Given the description of an element on the screen output the (x, y) to click on. 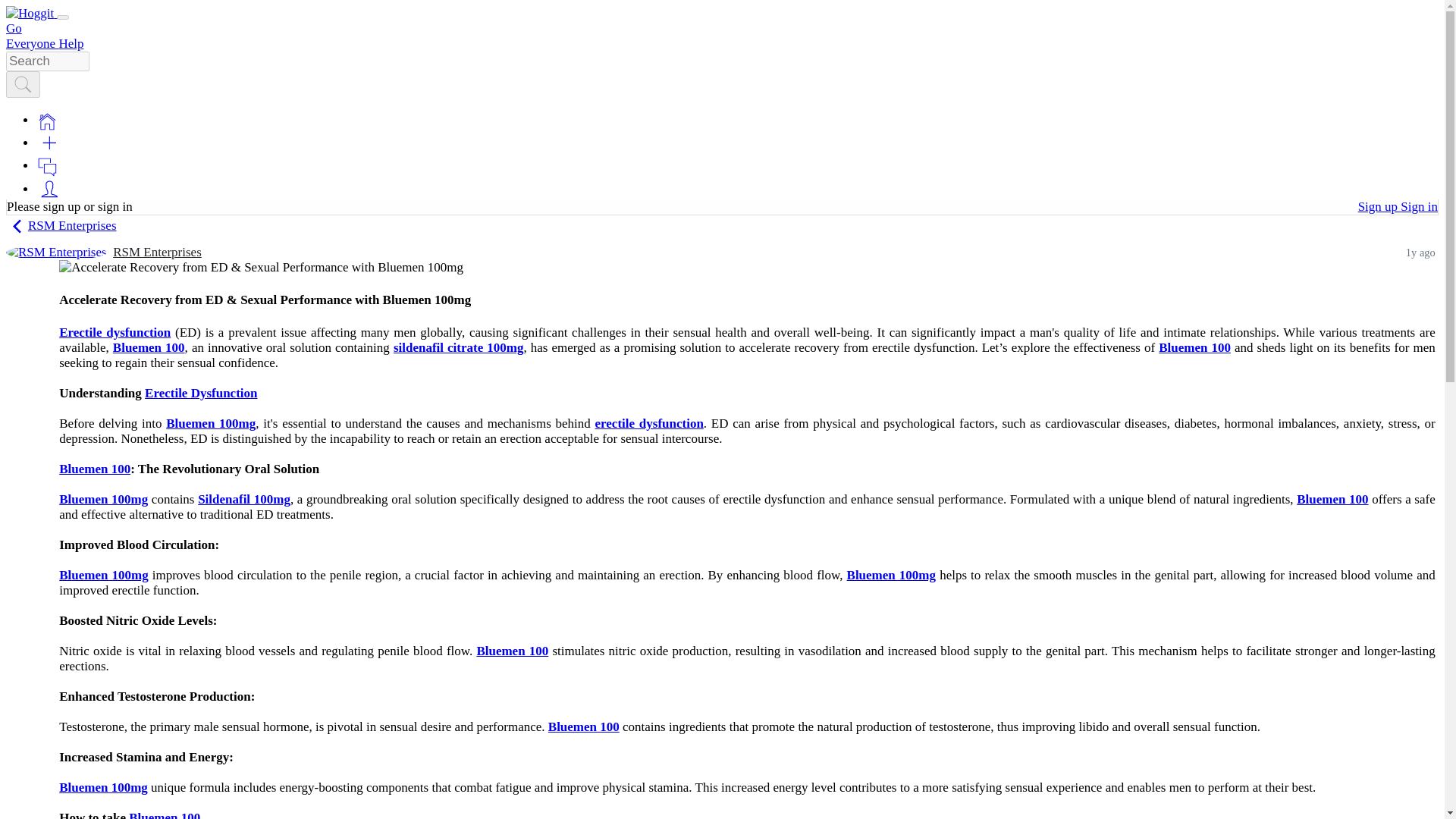
Home (47, 120)
BackRSM Enterprises (60, 225)
Bluemen 100 (1194, 347)
My Hoggit (49, 188)
Notifications (47, 166)
Back (16, 226)
erectile dysfunction (649, 423)
Go (13, 28)
Sign in (1419, 206)
Add (49, 142)
RSM Enterprises (55, 252)
RSM Enterprises (157, 251)
Erectile dysfunction (114, 332)
Bluemen 100 (148, 347)
Bluemen 100 (1332, 499)
